Given the description of an element on the screen output the (x, y) to click on. 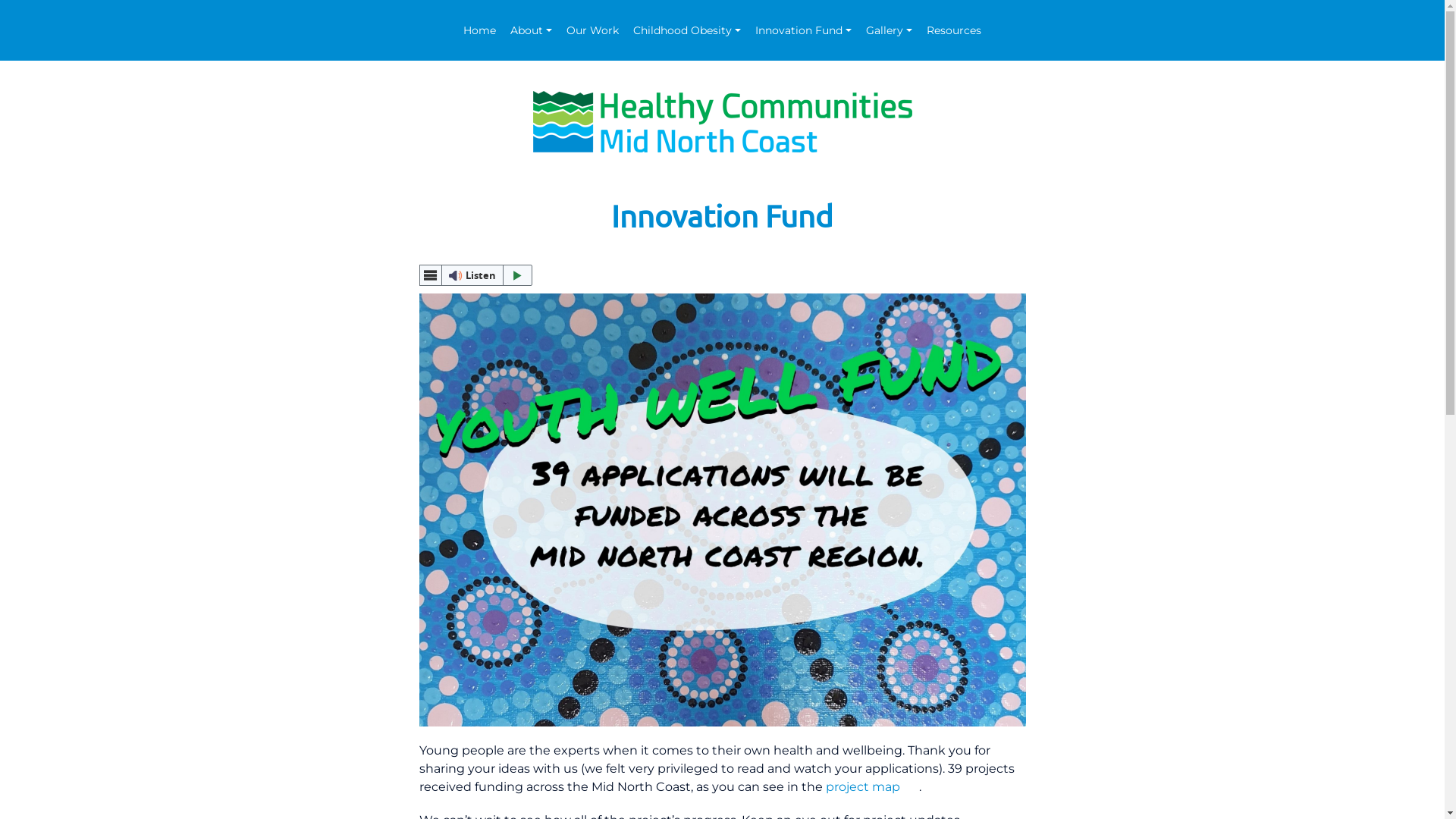
About Element type: text (531, 30)
Resources Element type: text (953, 30)
Childhood Obesity Element type: text (686, 30)
Gallery Element type: text (889, 30)
Our Work Element type: text (592, 30)
project map Element type: text (862, 786)
Home Element type: text (479, 30)
Innovation Fund Element type: text (803, 30)
webReader menu Element type: hover (429, 274)
Listen Element type: text (475, 274)
